Given the description of an element on the screen output the (x, y) to click on. 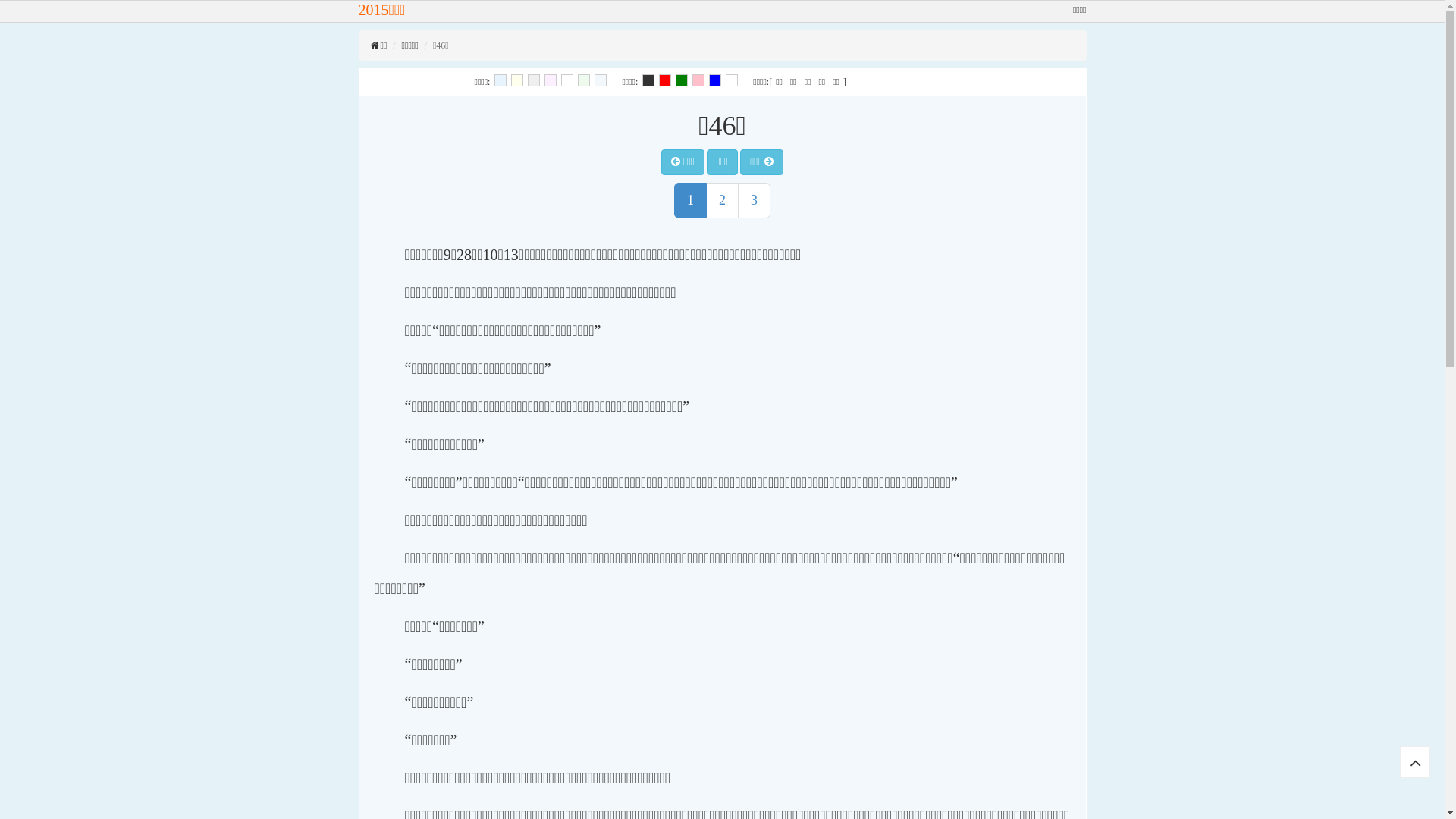
Advertisement Element type: hover (956, 334)
3 Element type: text (753, 200)
1 Element type: text (690, 200)
2 Element type: text (722, 200)
